Given the description of an element on the screen output the (x, y) to click on. 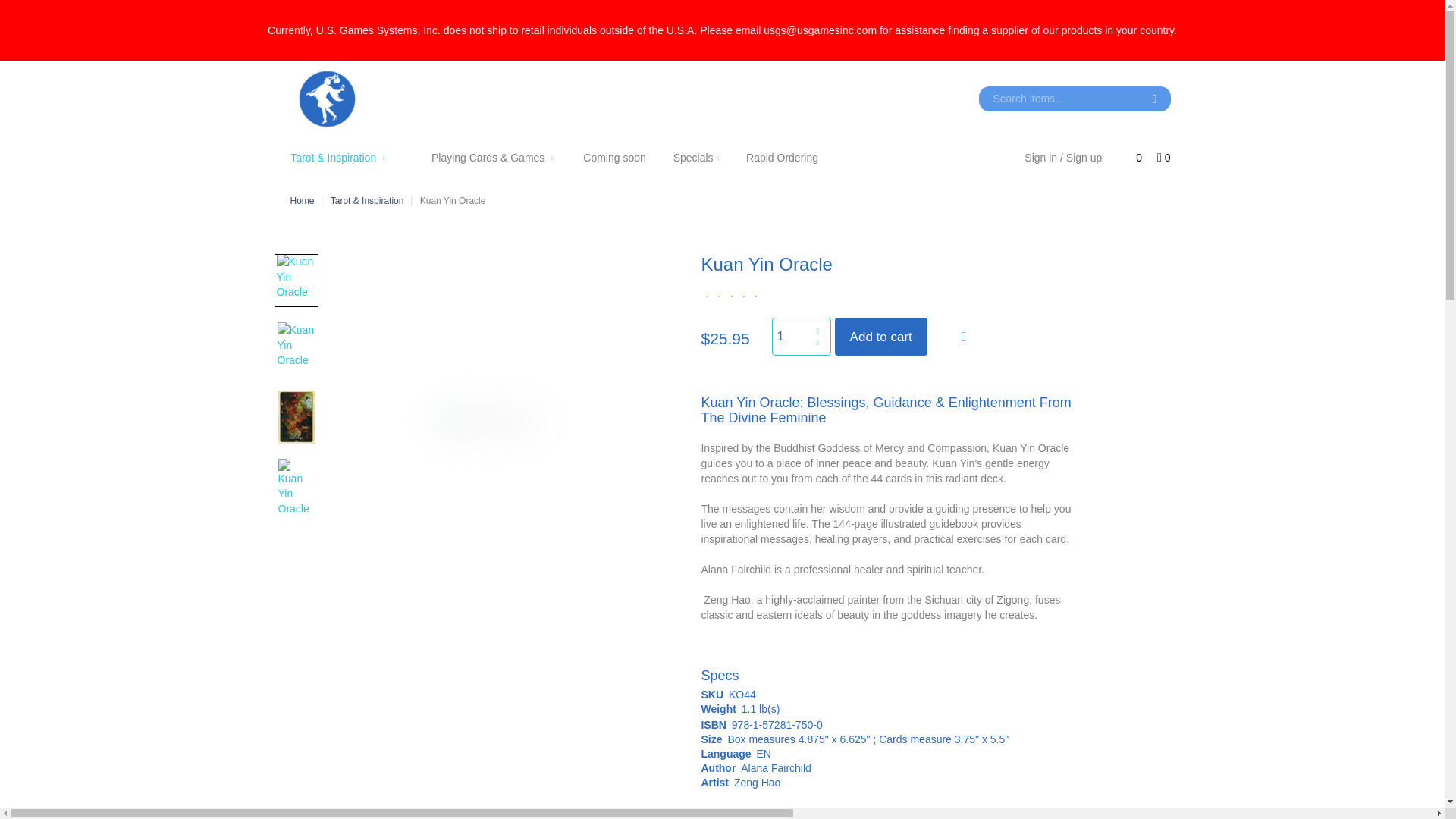
1 (801, 336)
